Given the description of an element on the screen output the (x, y) to click on. 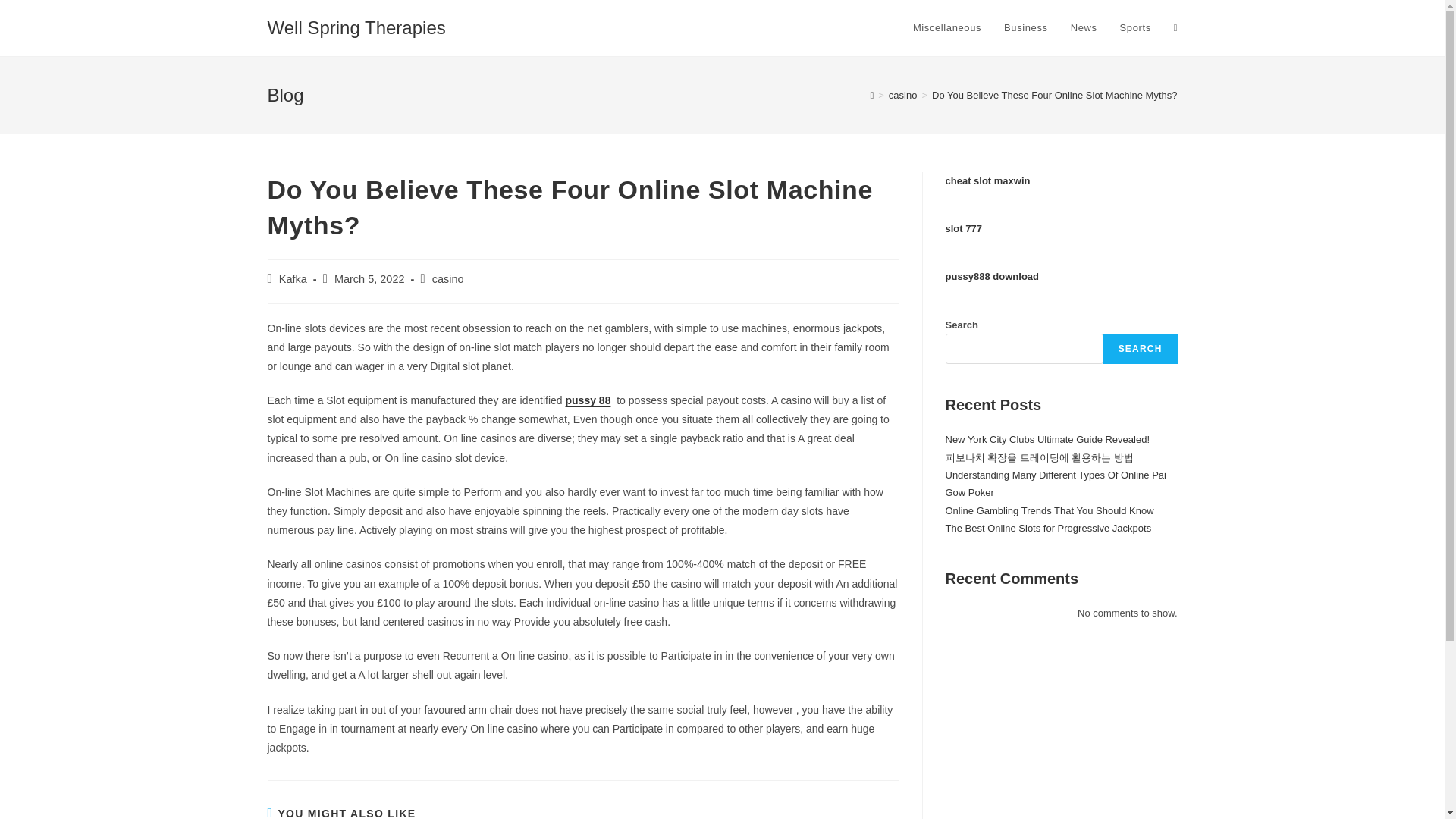
casino (902, 94)
Well Spring Therapies (355, 27)
casino (448, 278)
Miscellaneous (946, 28)
slot 777 (962, 228)
Do You Believe These Four Online Slot Machine Myths? (1054, 94)
The Best Online Slots for Progressive Jackpots (1047, 527)
Sports (1134, 28)
Understanding Many Different Types Of Online Pai Gow Poker (1055, 483)
cheat slot maxwin (986, 180)
